Given the description of an element on the screen output the (x, y) to click on. 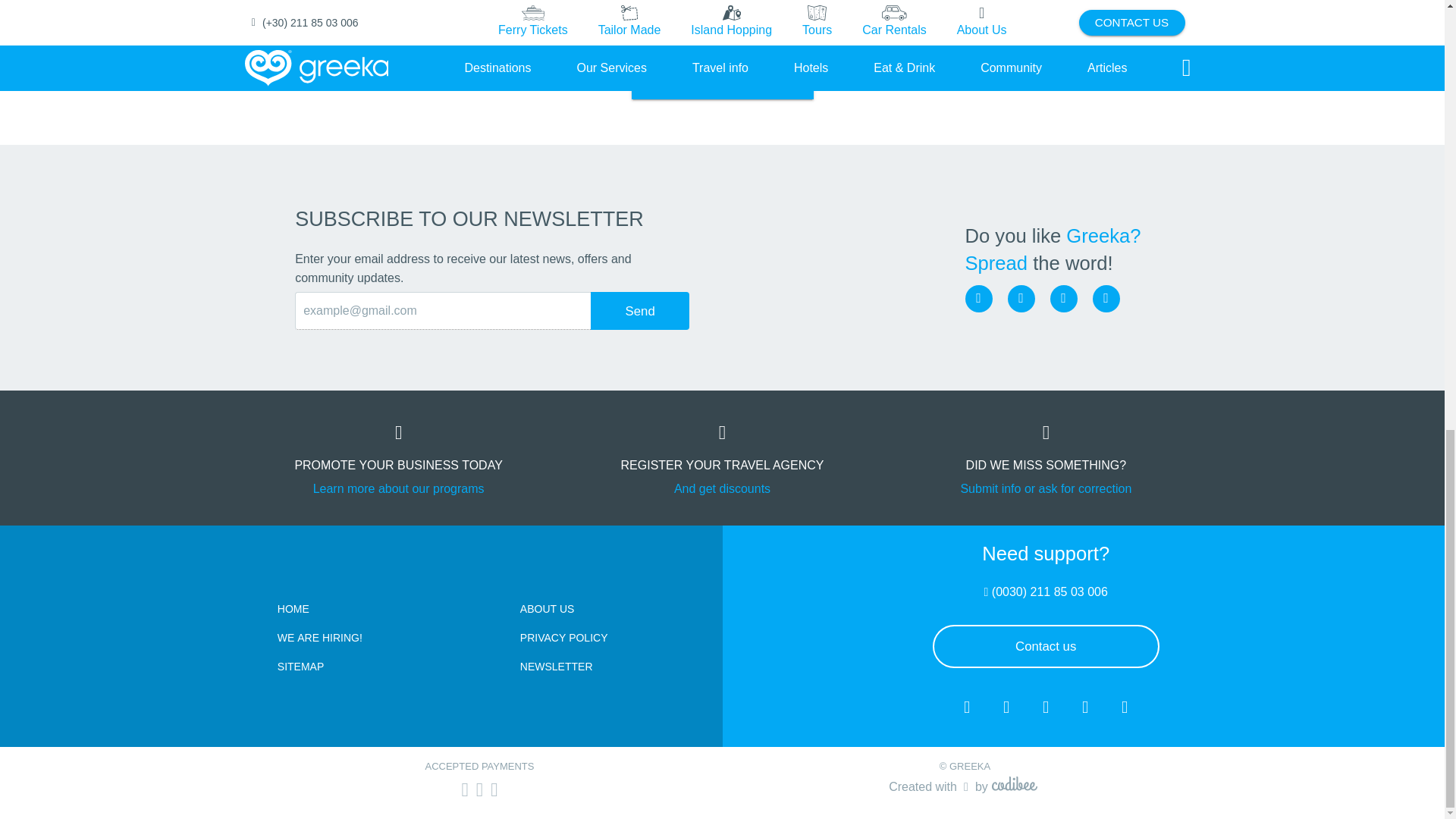
Pinterest (1105, 298)
Instagram (1020, 298)
Send (639, 310)
ASK THE COMMUNITY (721, 77)
Facebook (977, 298)
Learn more about our programs (398, 487)
Send (639, 310)
Instagram (1020, 298)
And get discounts (722, 487)
Twitter (1063, 298)
